Given the description of an element on the screen output the (x, y) to click on. 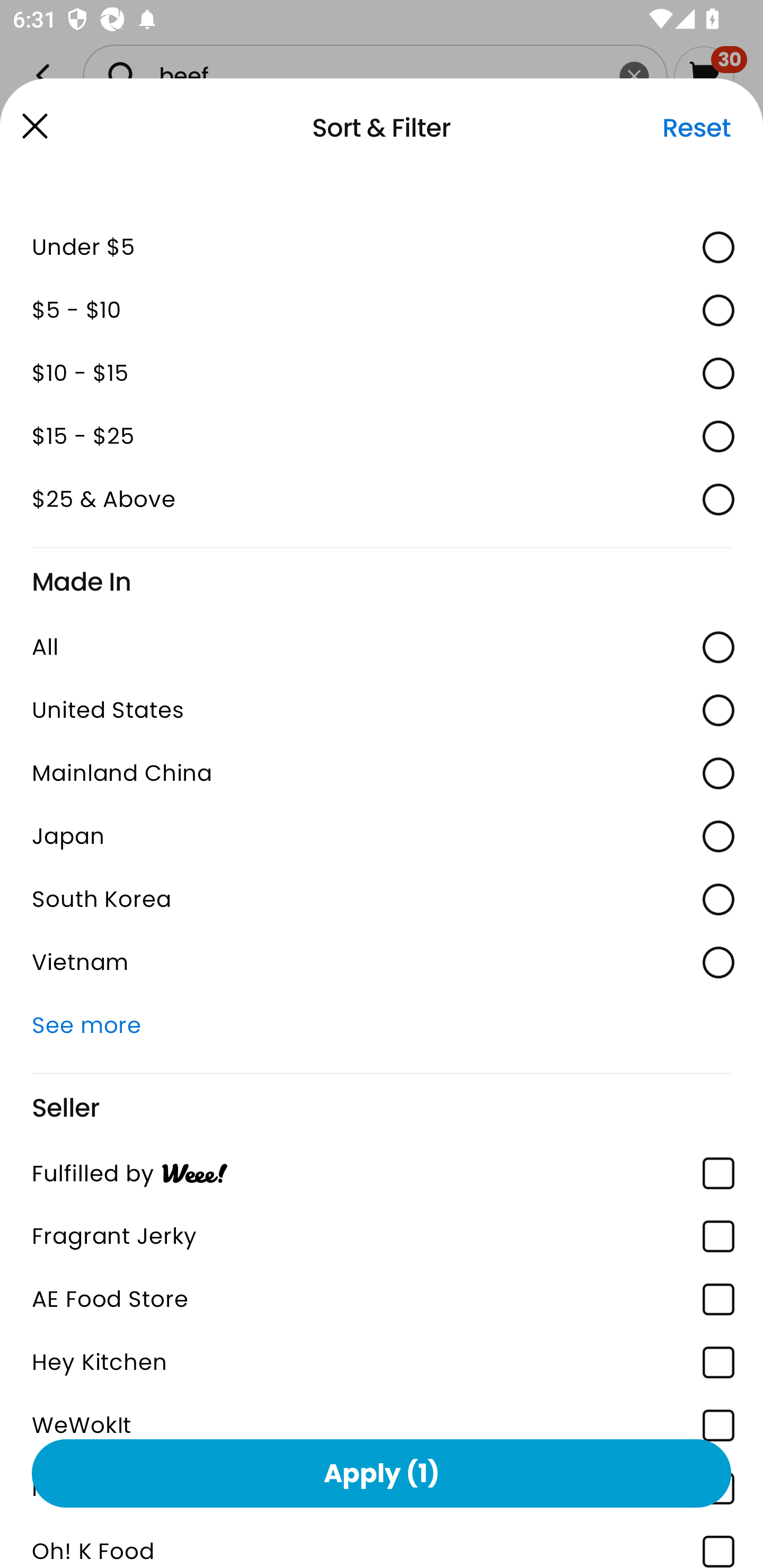
Reset (696, 127)
See more (381, 1025)
Apply (1) (381, 1472)
